Given the description of an element on the screen output the (x, y) to click on. 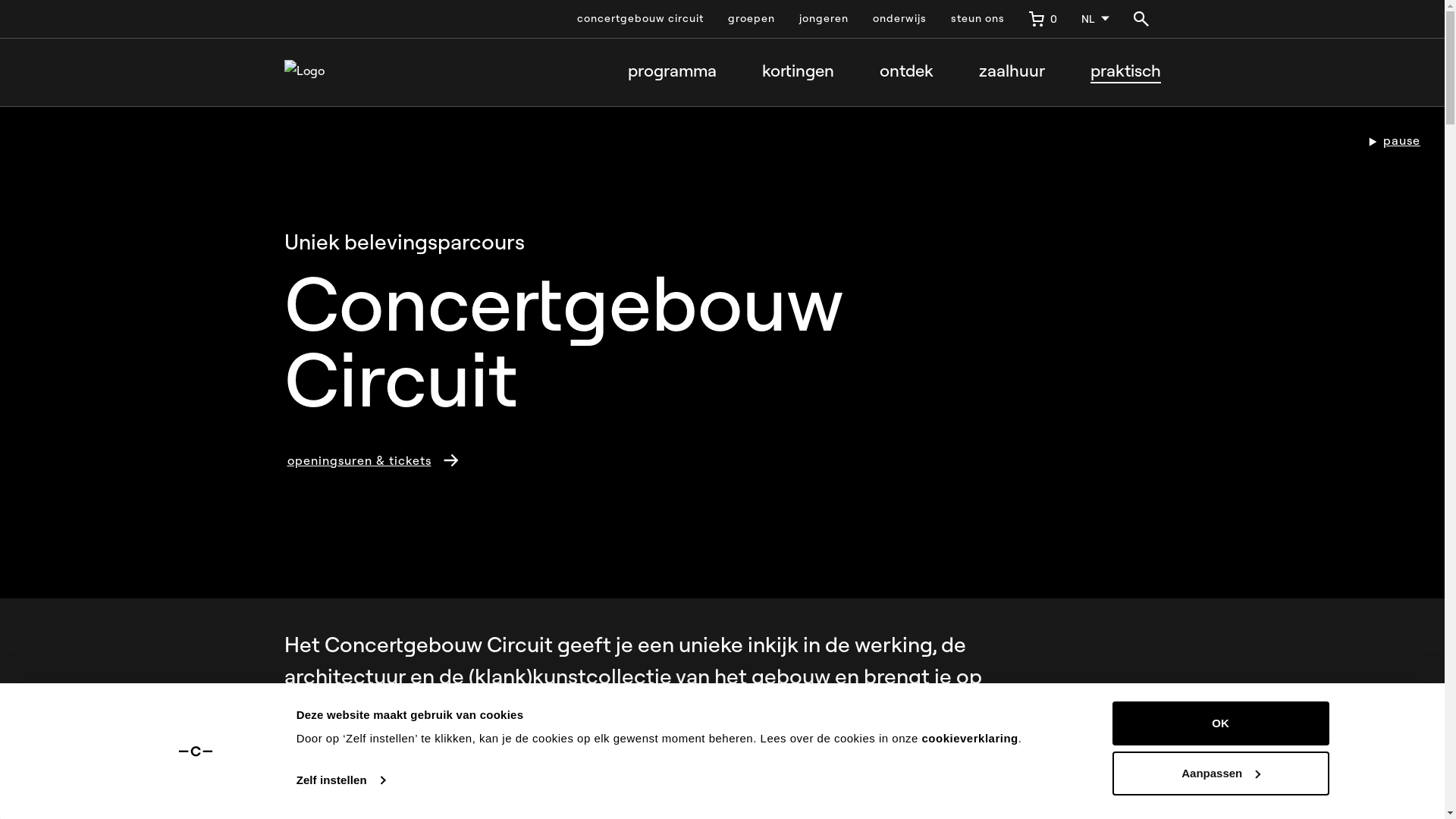
groepen Element type: text (751, 18)
pause Element type: text (1394, 140)
Zelf instellen Element type: text (340, 779)
0 Element type: text (1042, 18)
kortingen Element type: text (797, 71)
programma Element type: text (671, 71)
zaalhuur Element type: text (1011, 71)
praktisch Element type: text (1125, 71)
Aanpassen Element type: text (1219, 772)
NL Element type: text (1095, 18)
cookieverklaring Element type: text (970, 737)
ontdek Element type: text (906, 71)
Ga naar de hoofdcontent Element type: text (73, 14)
steun ons Element type: text (977, 18)
onderwijs Element type: text (898, 18)
jongeren Element type: text (823, 18)
OK Element type: text (1219, 723)
concertgebouw circuit Element type: text (639, 18)
